Given the description of an element on the screen output the (x, y) to click on. 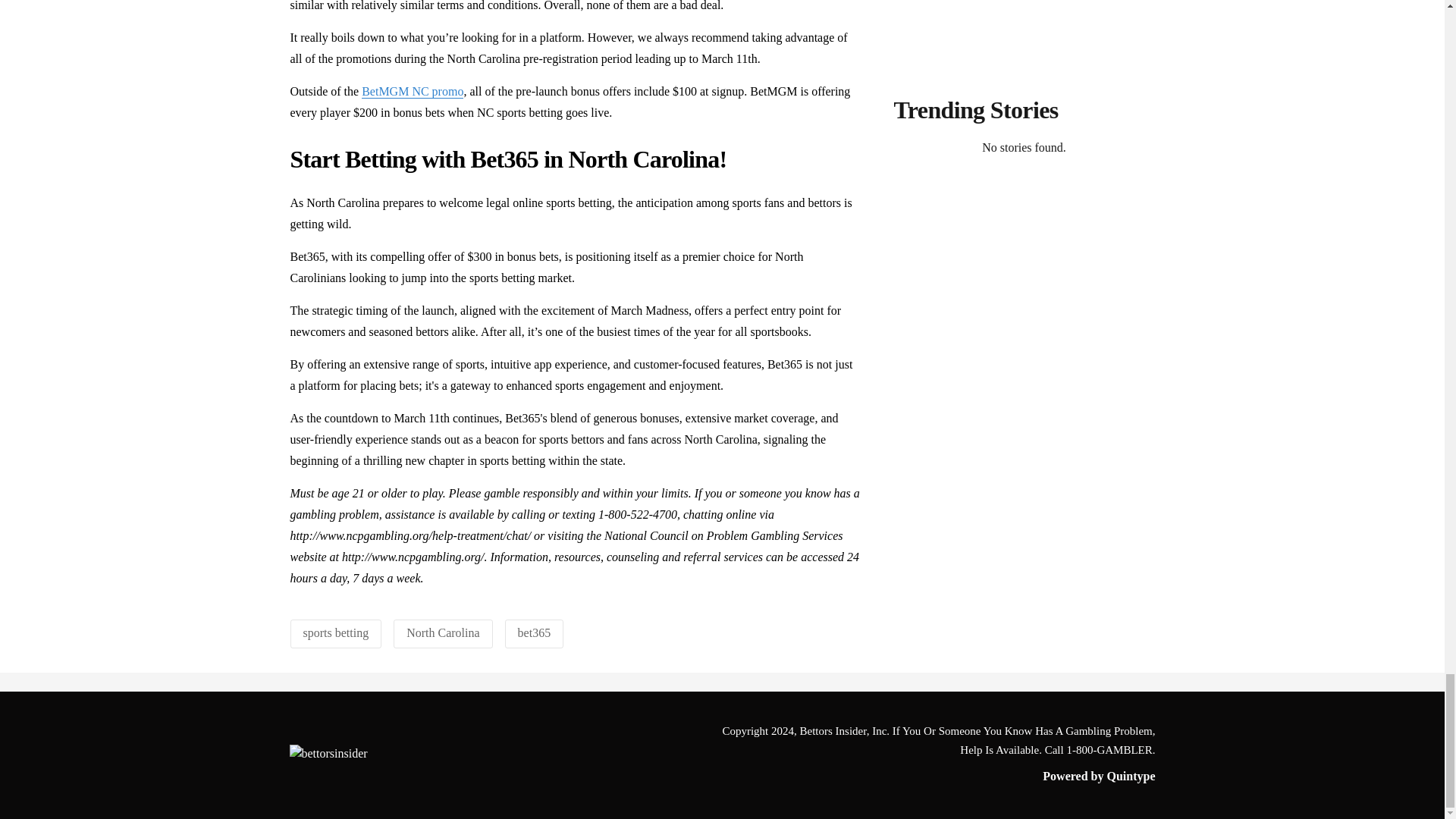
North Carolina (442, 632)
BetMGM NC promo (412, 91)
bet365 (534, 632)
sports betting (335, 632)
